Given the description of an element on the screen output the (x, y) to click on. 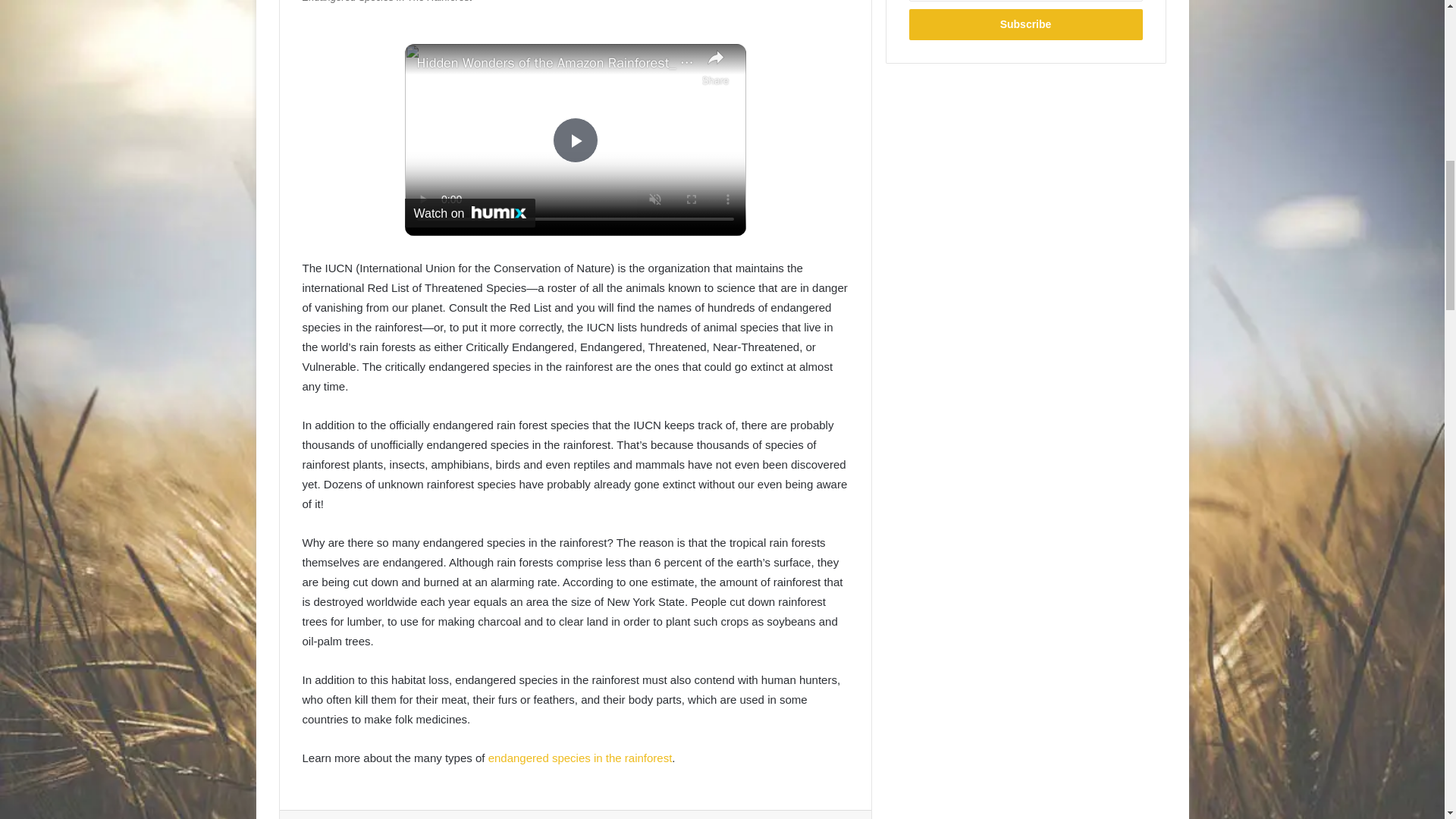
Play Video (573, 139)
Play Video (573, 139)
Subscribe (1025, 24)
